Given the description of an element on the screen output the (x, y) to click on. 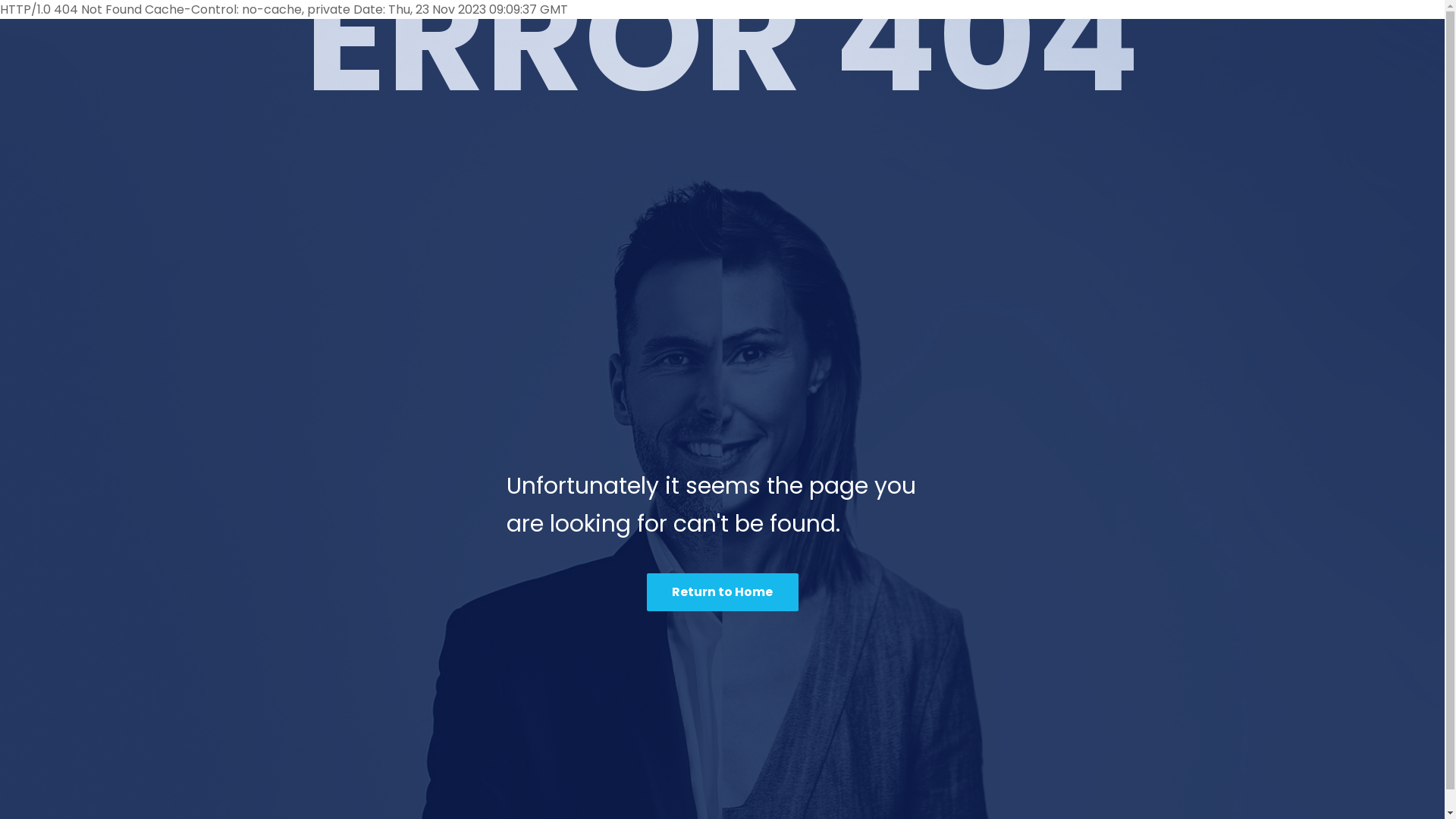
Return to Home Element type: text (721, 592)
